Given the description of an element on the screen output the (x, y) to click on. 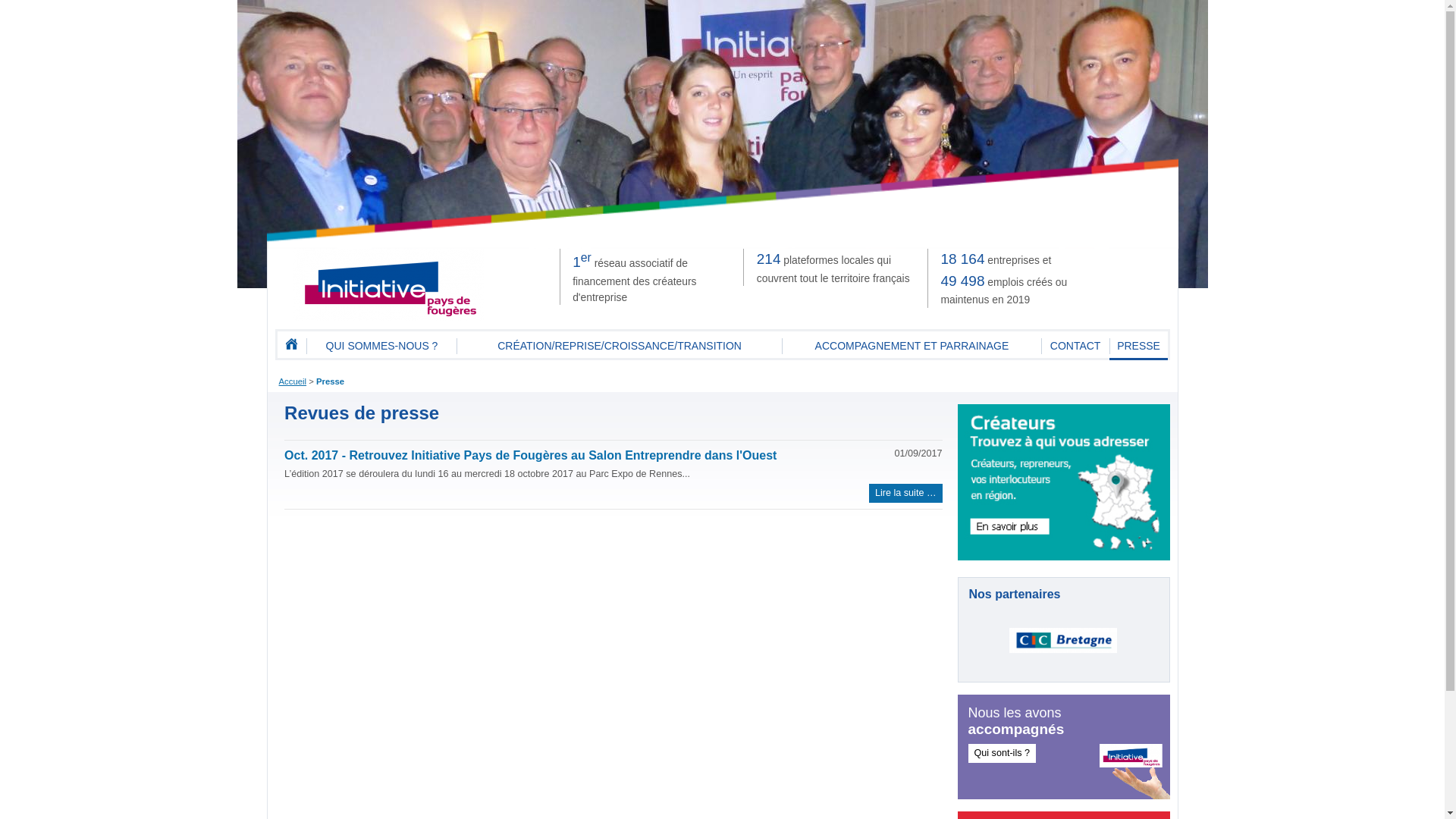
Accueil Element type: text (293, 380)
QUI SOMMES-NOUS ? Element type: text (381, 346)
Presse Element type: text (330, 380)
CONTACT Element type: text (1075, 346)
ACCOMPAGNEMENT ET PARRAINAGE Element type: text (910, 346)
PRESSE Element type: text (1138, 346)
A qui s'adresser ? Element type: hover (1063, 482)
